Given the description of an element on the screen output the (x, y) to click on. 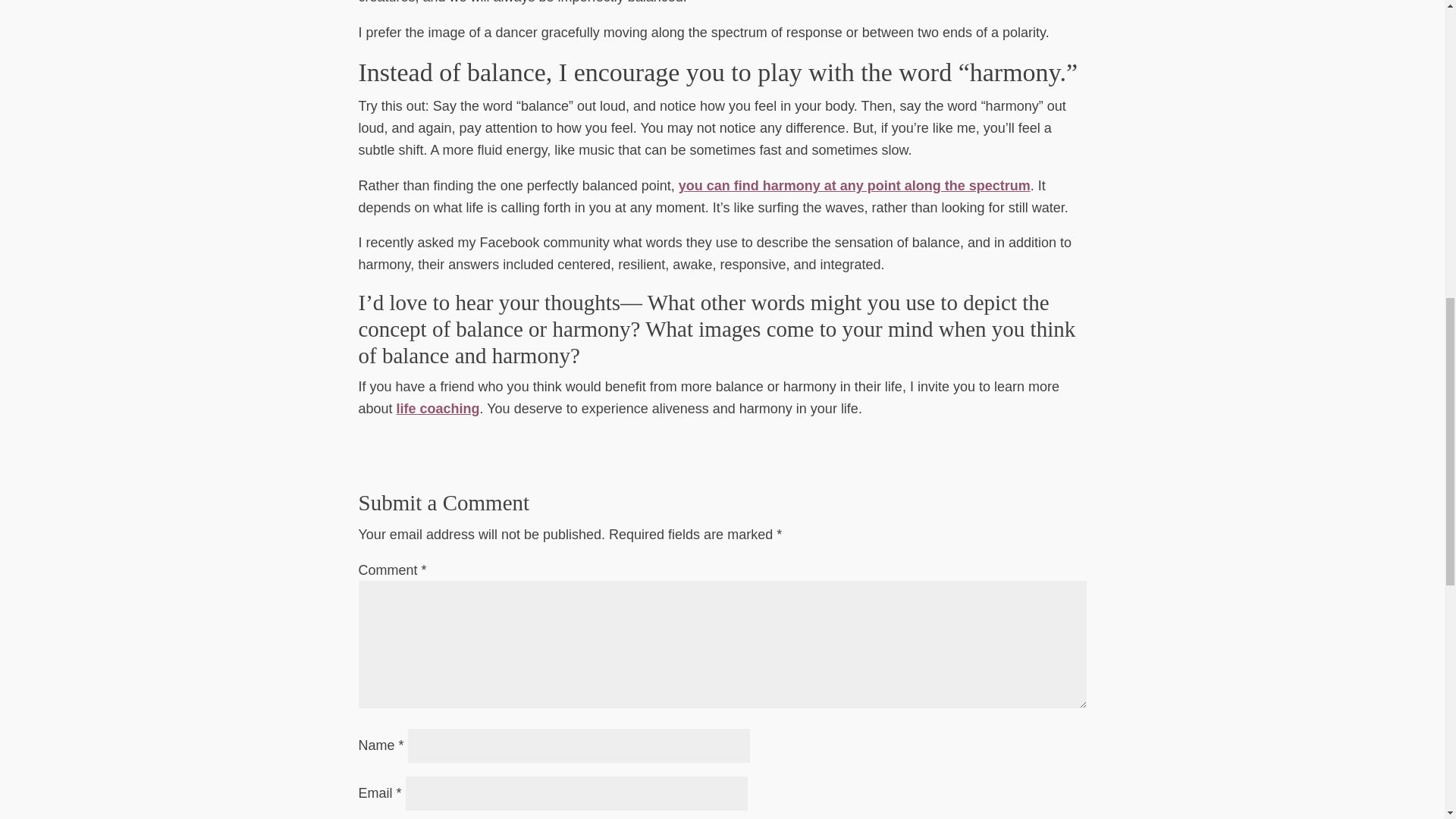
you can find harmony at any point along the spectrum (854, 185)
life coaching (438, 408)
